Given the description of an element on the screen output the (x, y) to click on. 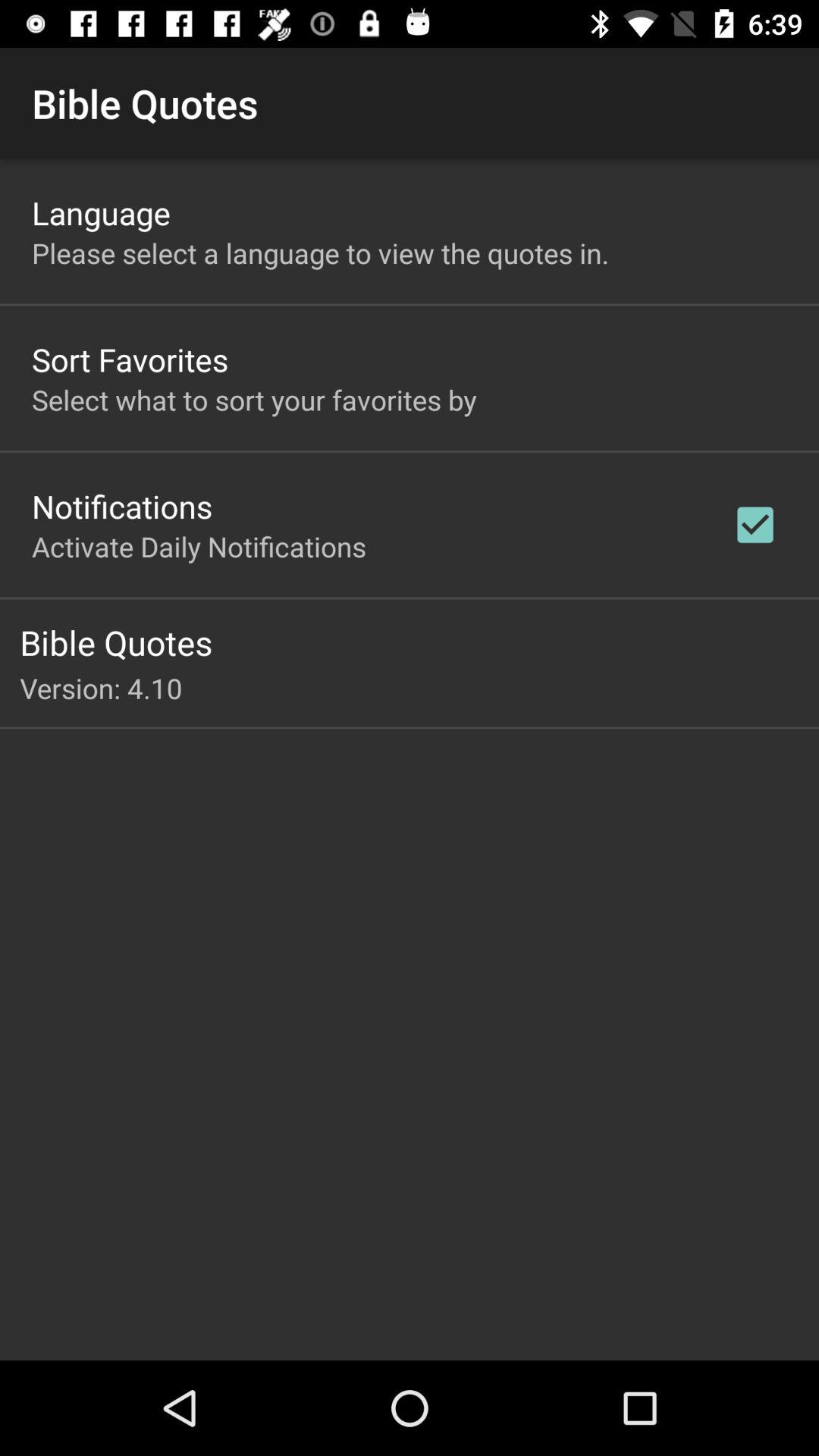
select app to the right of the activate daily notifications app (755, 524)
